Given the description of an element on the screen output the (x, y) to click on. 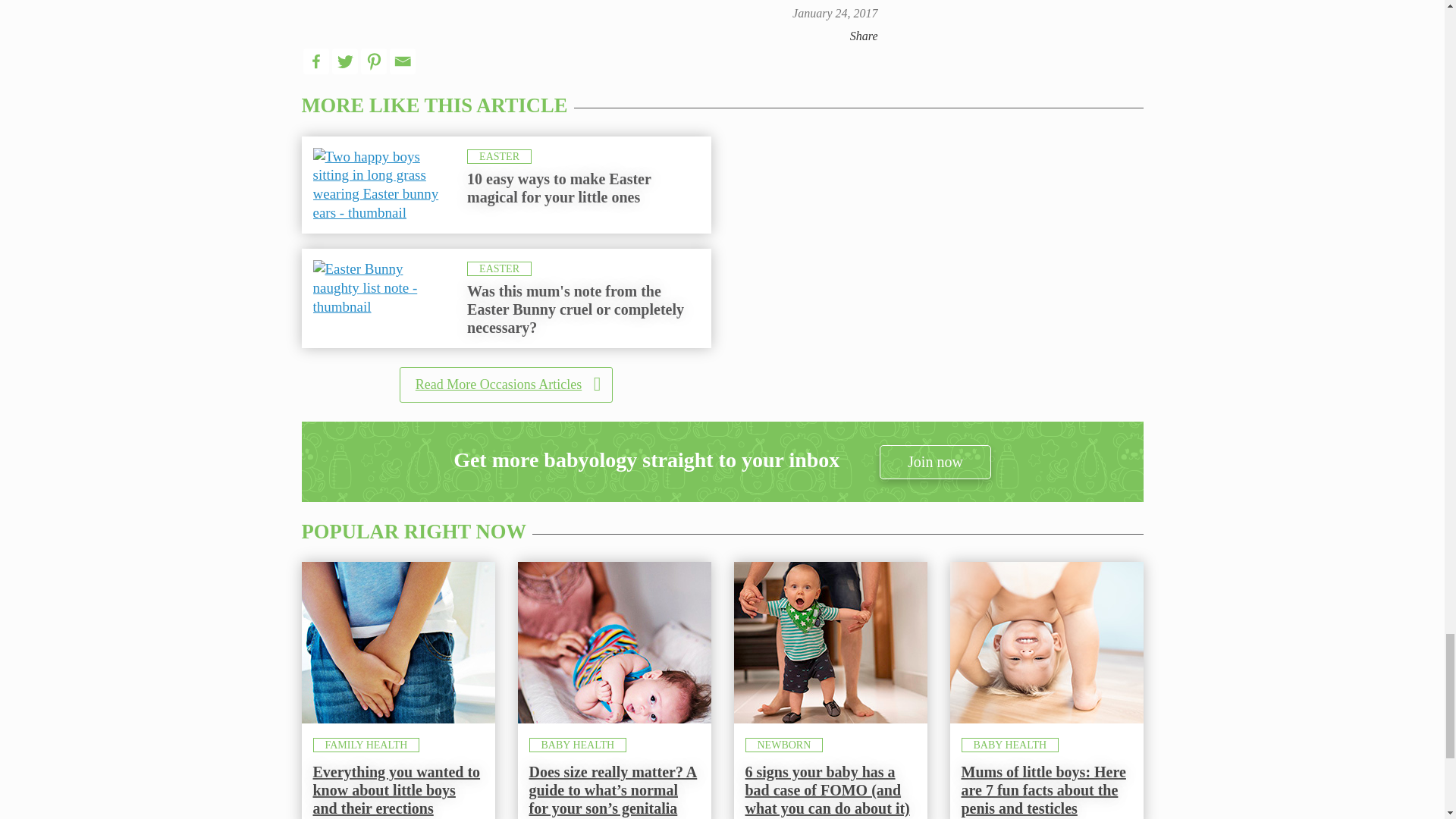
3:30 pm (834, 12)
Twitter (344, 61)
Facebook (315, 61)
